Given the description of an element on the screen output the (x, y) to click on. 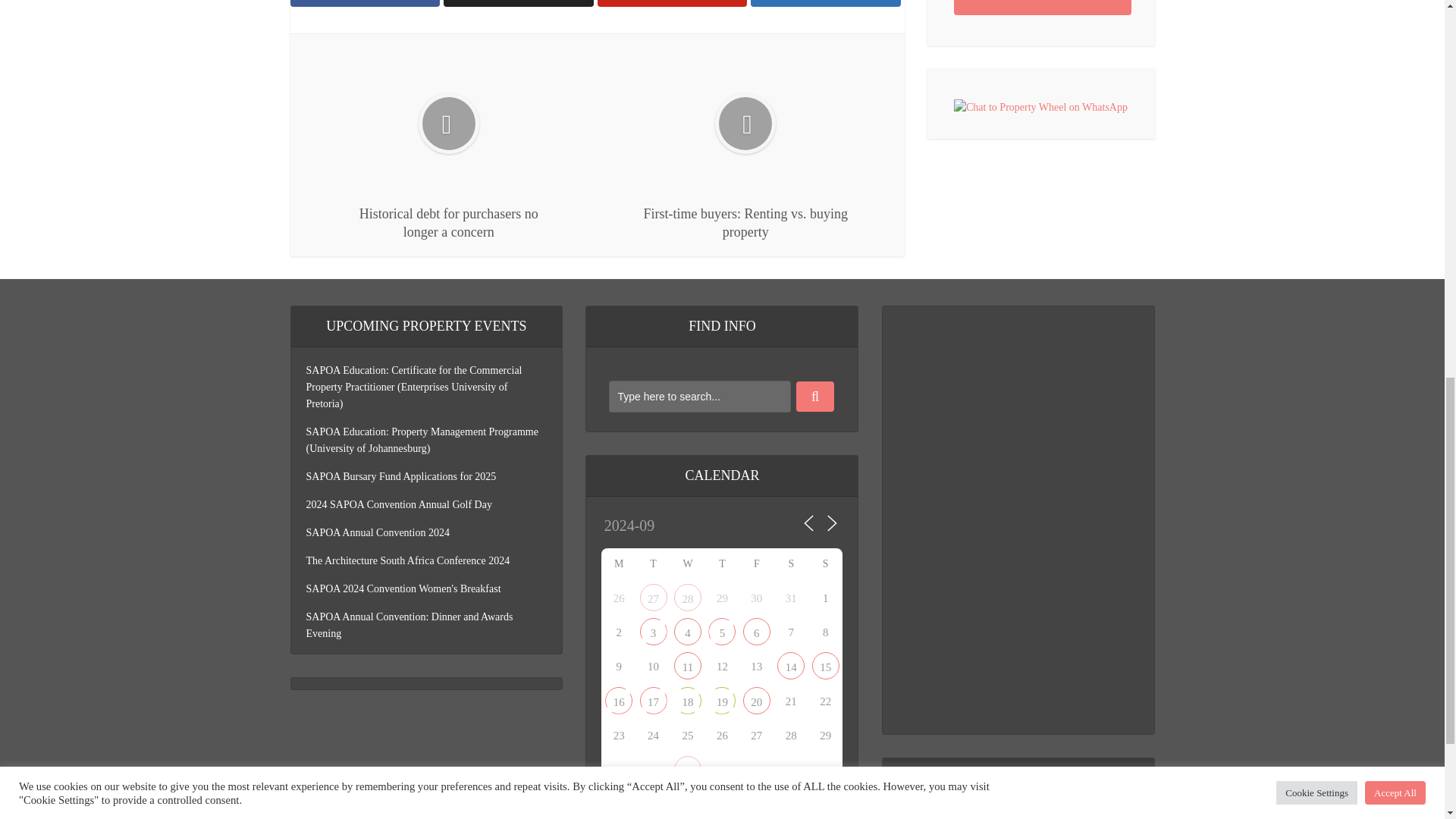
Type here to search... (699, 396)
Master Builders SA Annual Congress (756, 631)
Type here to search... (699, 396)
The Architecture South Africa Conference 2024 (687, 631)
2024-09 (674, 525)
